Given the description of an element on the screen output the (x, y) to click on. 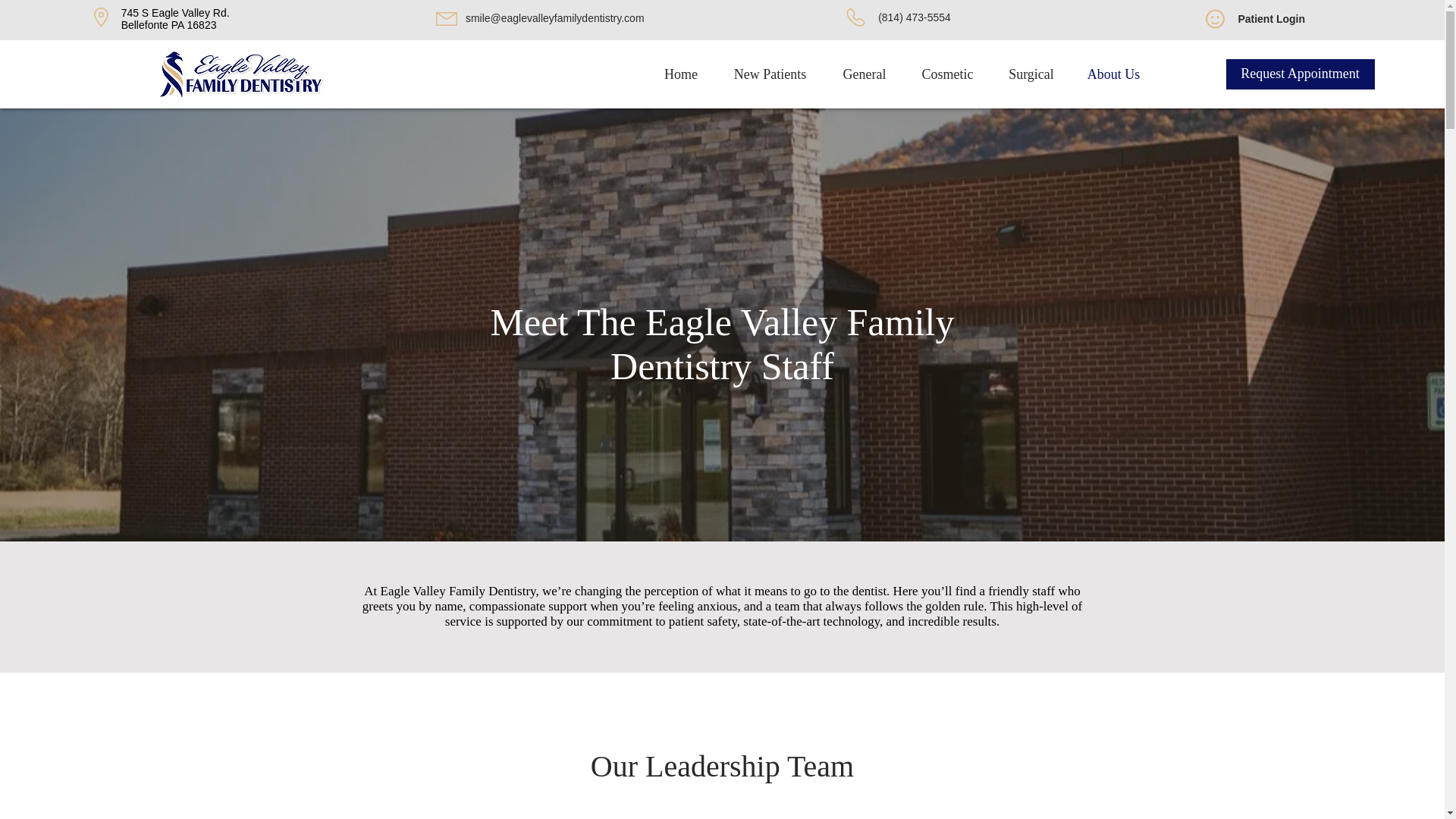
Patient Login (1270, 19)
About Us (1113, 73)
Home (680, 73)
Request Appointment (1299, 73)
New Patients (769, 73)
